Given the description of an element on the screen output the (x, y) to click on. 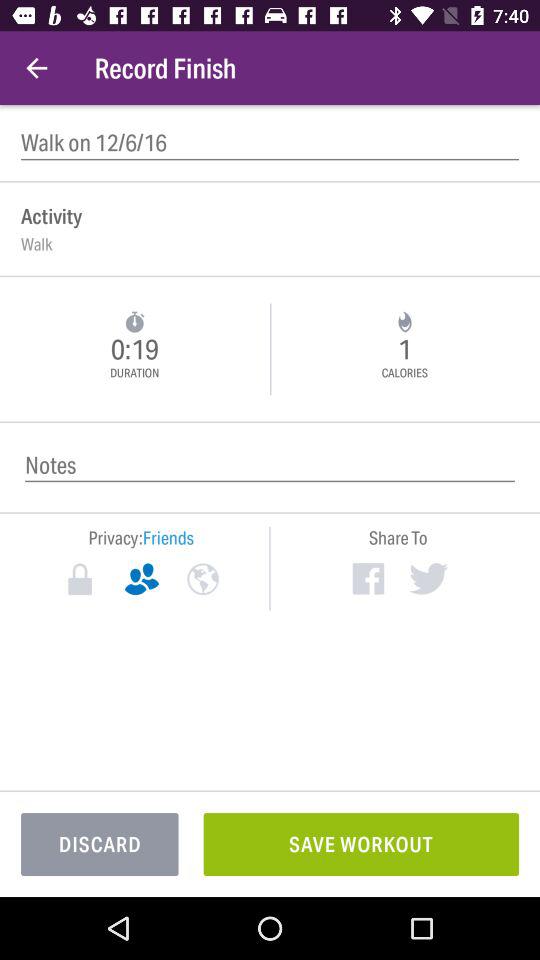
share results to twitter (428, 578)
